Given the description of an element on the screen output the (x, y) to click on. 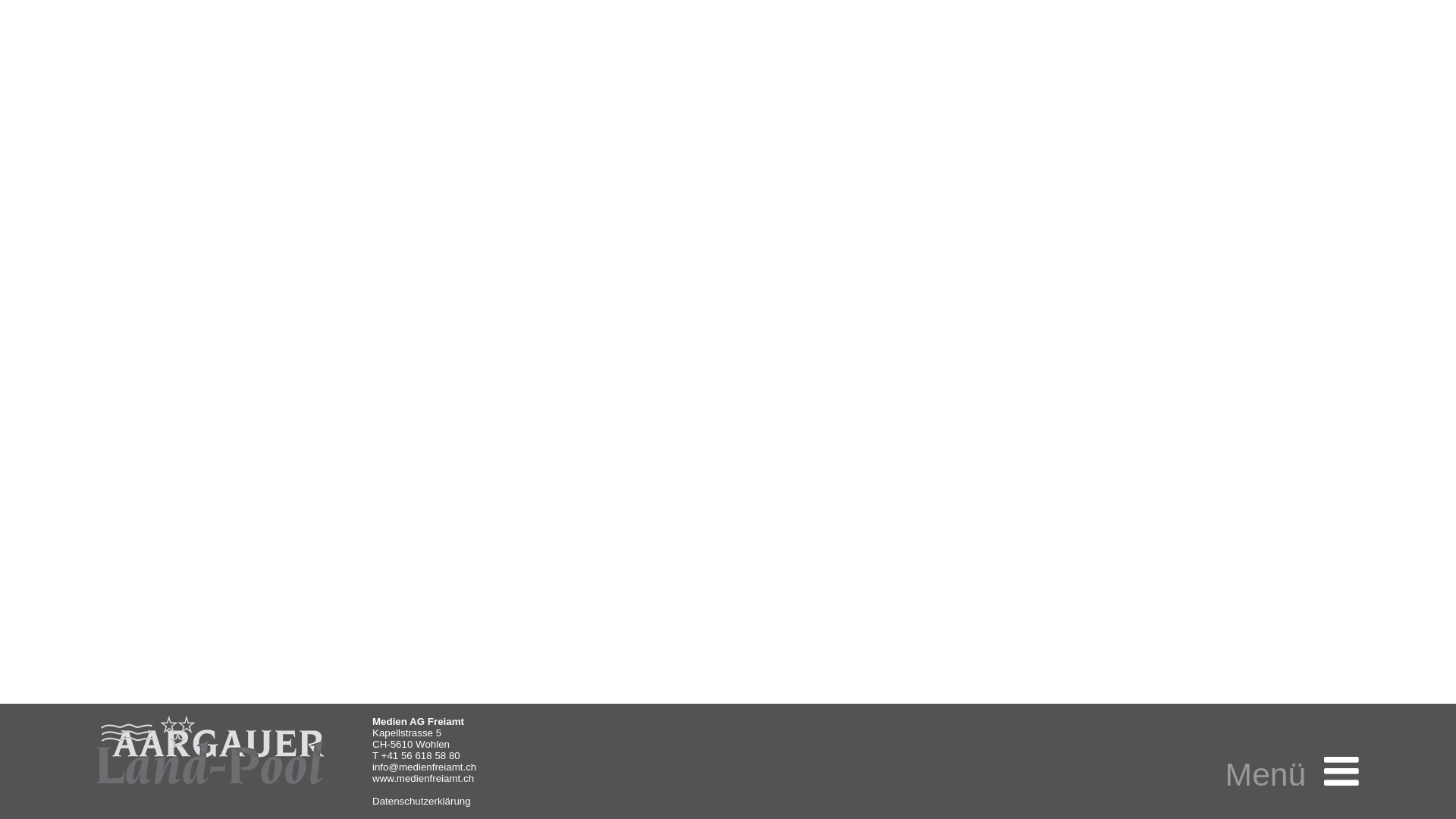
info@medienfreiamt.ch Element type: text (424, 766)
www.medienfreiamt.ch Element type: text (422, 778)
